Given the description of an element on the screen output the (x, y) to click on. 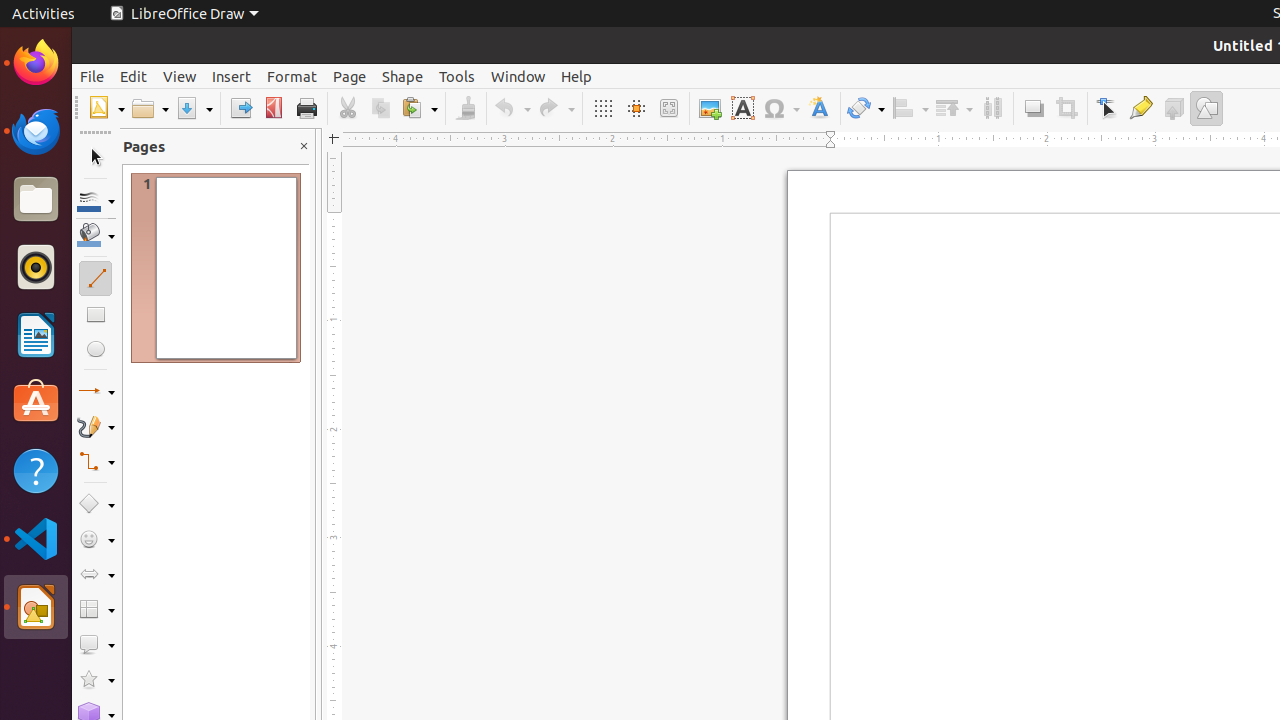
LibreOffice Draw Element type: menu (183, 13)
Copy Element type: push-button (380, 108)
Rhythmbox Element type: push-button (36, 267)
Crop Element type: push-button (1066, 108)
Toggle Extrusion Element type: push-button (1173, 108)
